Given the description of an element on the screen output the (x, y) to click on. 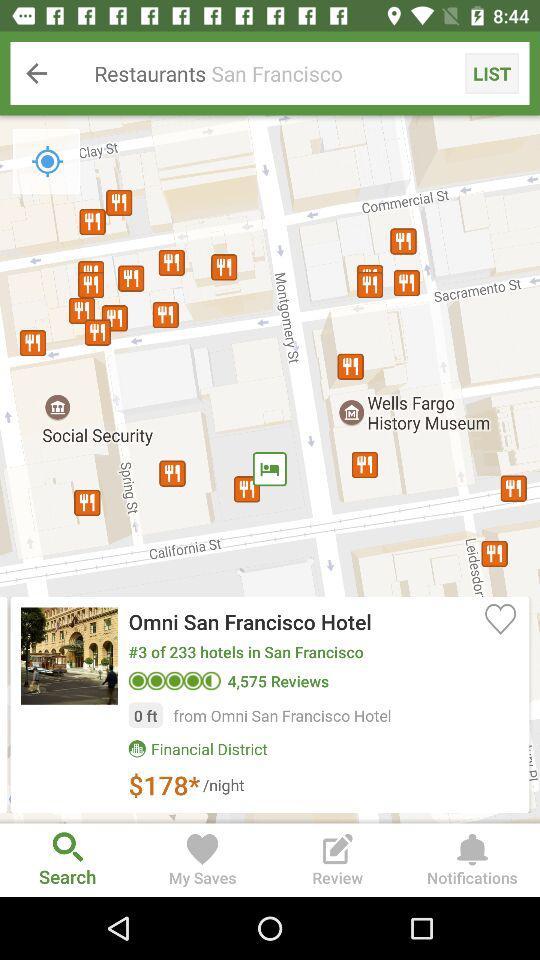
open the item next to the omni san francisco (500, 618)
